Given the description of an element on the screen output the (x, y) to click on. 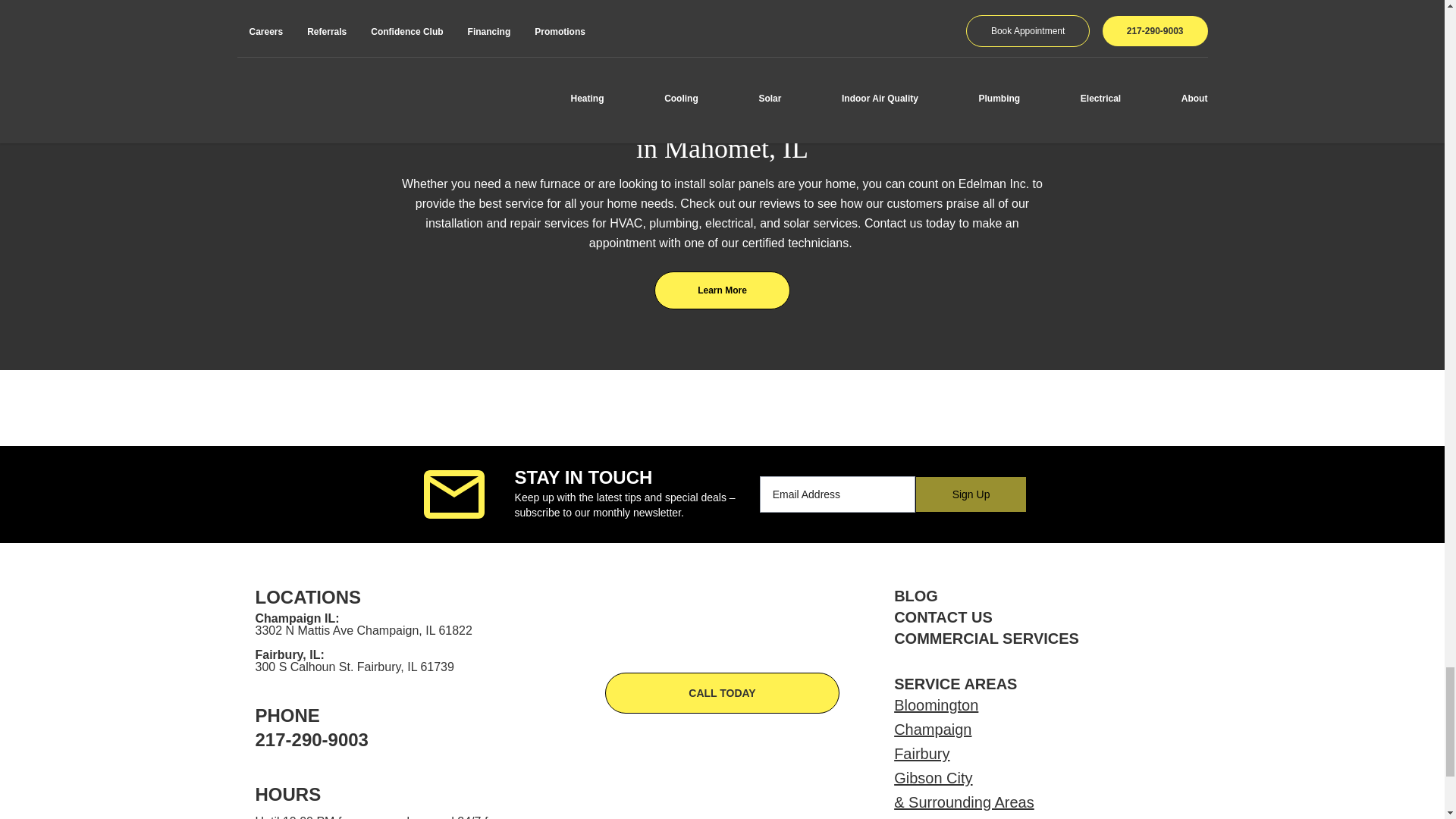
Sign Up (971, 493)
